Given the description of an element on the screen output the (x, y) to click on. 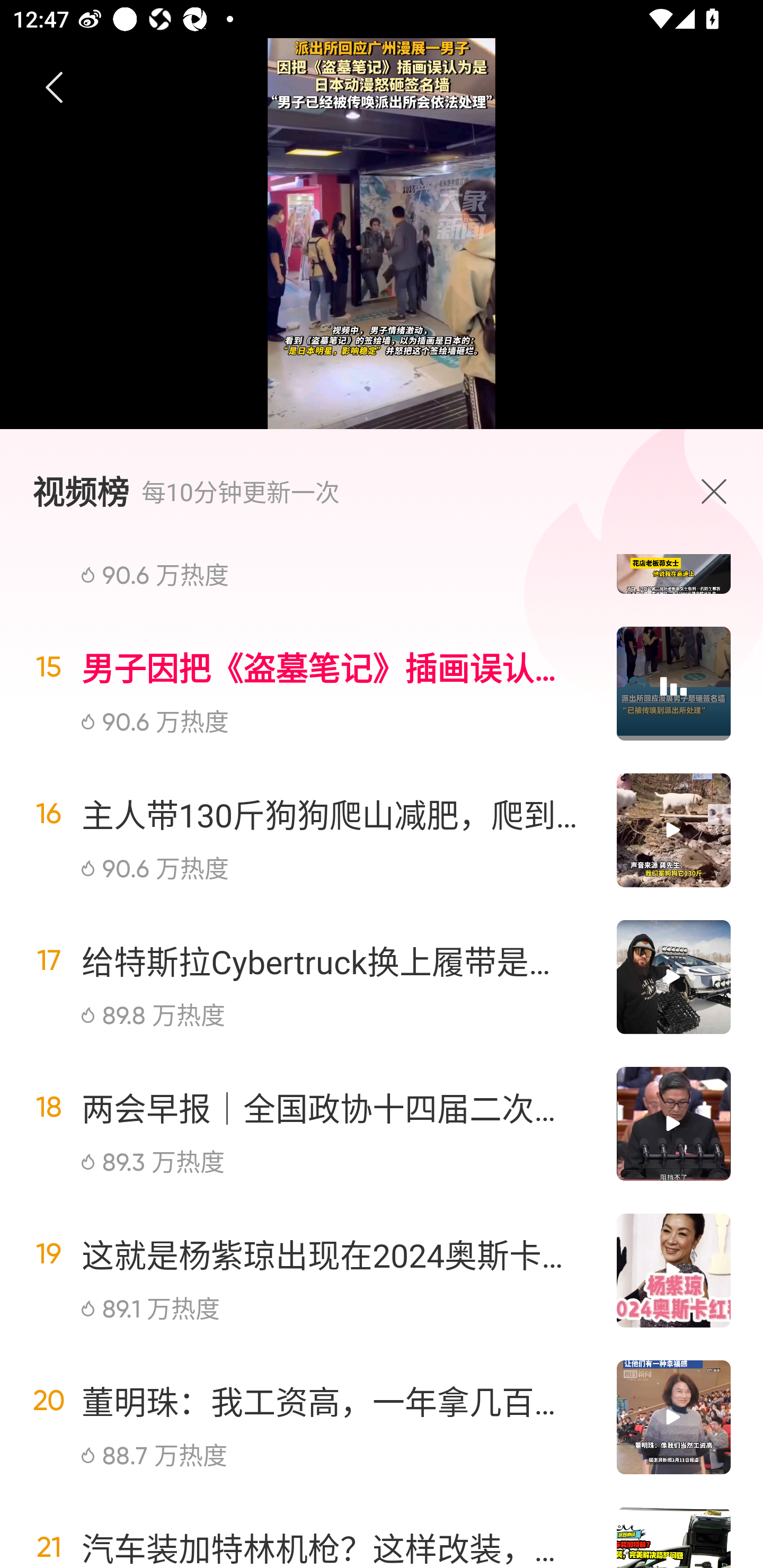
 返回 (54, 87)
 (718, 491)
16 主人带130斤狗狗爬山减肥，爬到一半爬不动被抬下山 90.6 万热度 (381, 830)
17 给特斯拉Cybertruck换上履带是什么体验？简直不要太疯狂 89.8 万热度 (381, 976)
18 两会早报｜全国政协十四届二次会议今日闭幕！最后一场“委员通道”说什么? 89.3 万热度 (381, 1123)
19 这就是杨紫琼出现在2024奥斯卡红毯的原因！好温暖好感动好成功 89.1 万热度 (381, 1270)
21 汽车装加特林机枪？这样改装，完美解决路怒问题 (381, 1529)
